Given the description of an element on the screen output the (x, y) to click on. 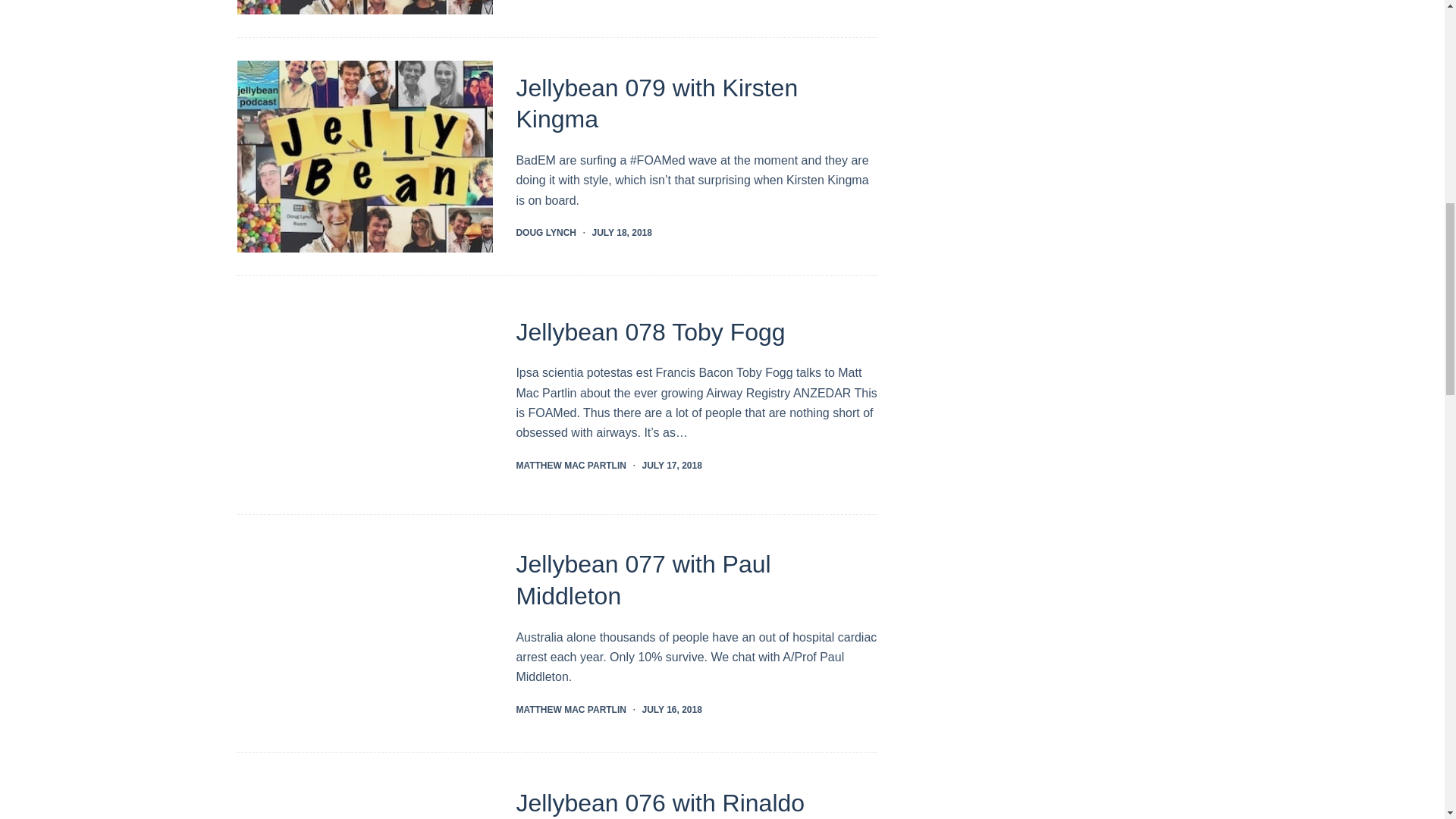
Posts by Matthew Mac Partlin (570, 465)
Posts by Doug Lynch (545, 232)
Posts by Matthew Mac Partlin (570, 709)
